Given the description of an element on the screen output the (x, y) to click on. 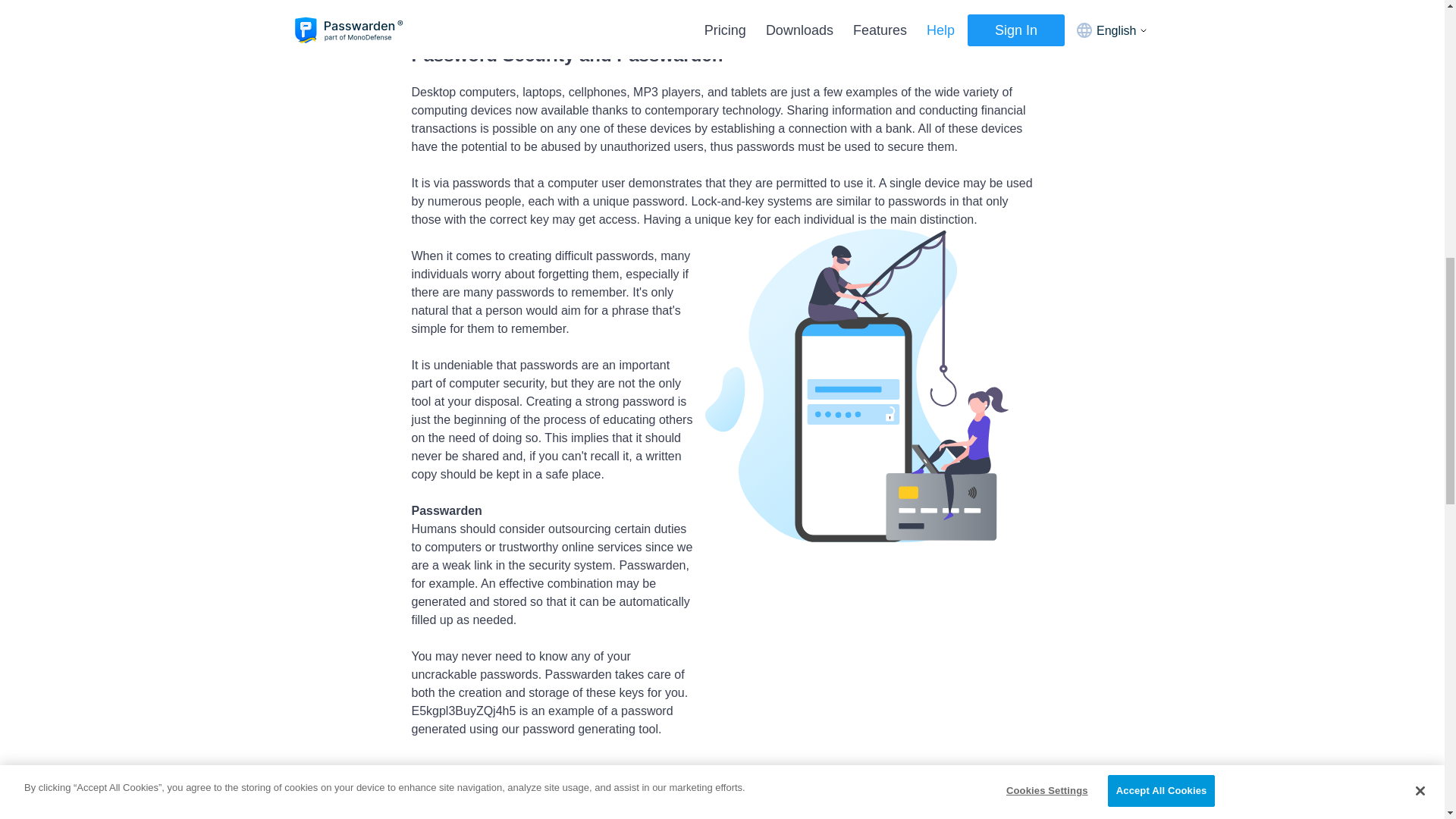
MonoDefense (763, 8)
